Given the description of an element on the screen output the (x, y) to click on. 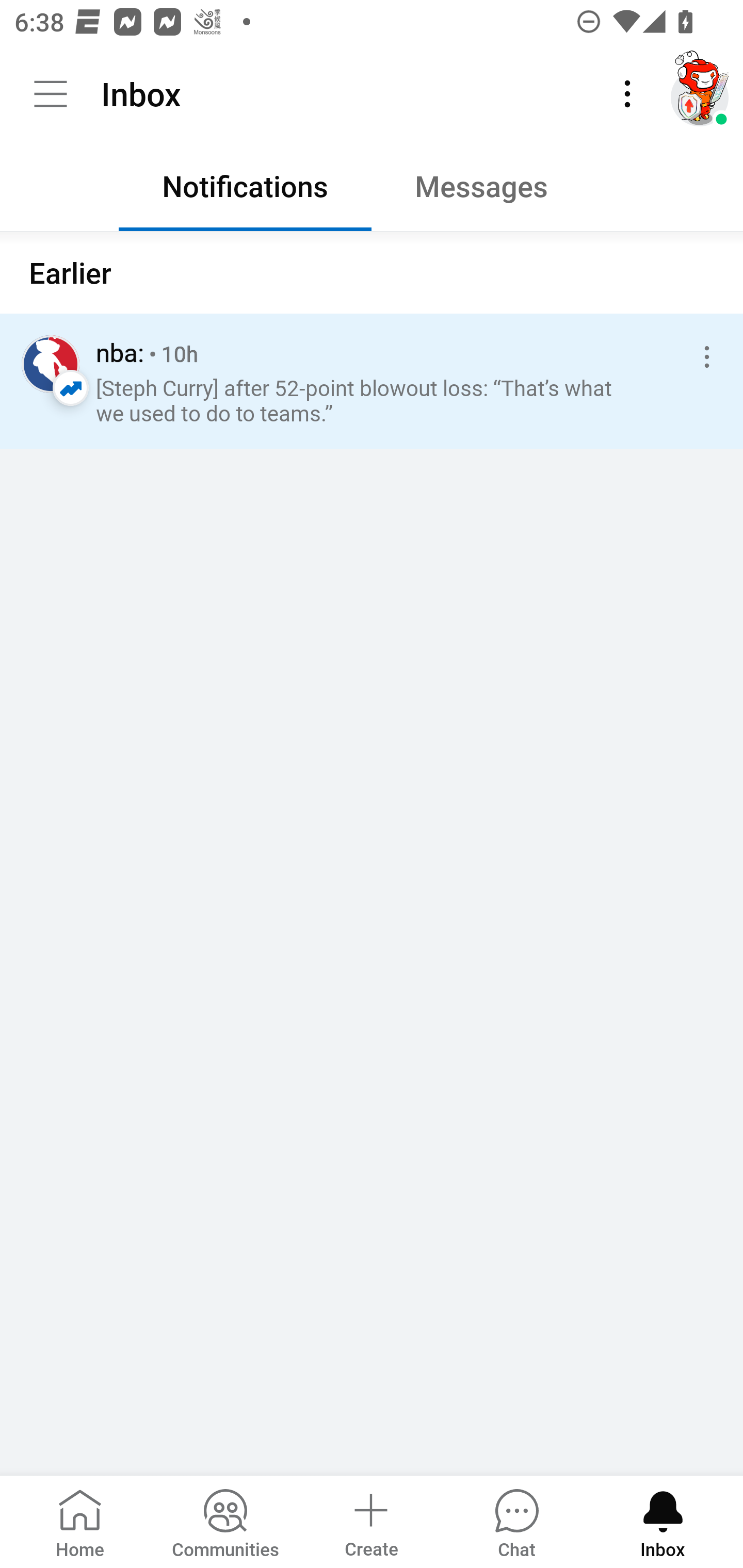
Community menu (50, 93)
More (626, 93)
TestAppium002 account (699, 93)
Messages (497, 191)
More options (703, 356)
Home (80, 1520)
Communities (225, 1520)
Create a post Create (370, 1520)
Chat (516, 1520)
Inbox (662, 1520)
